Given the description of an element on the screen output the (x, y) to click on. 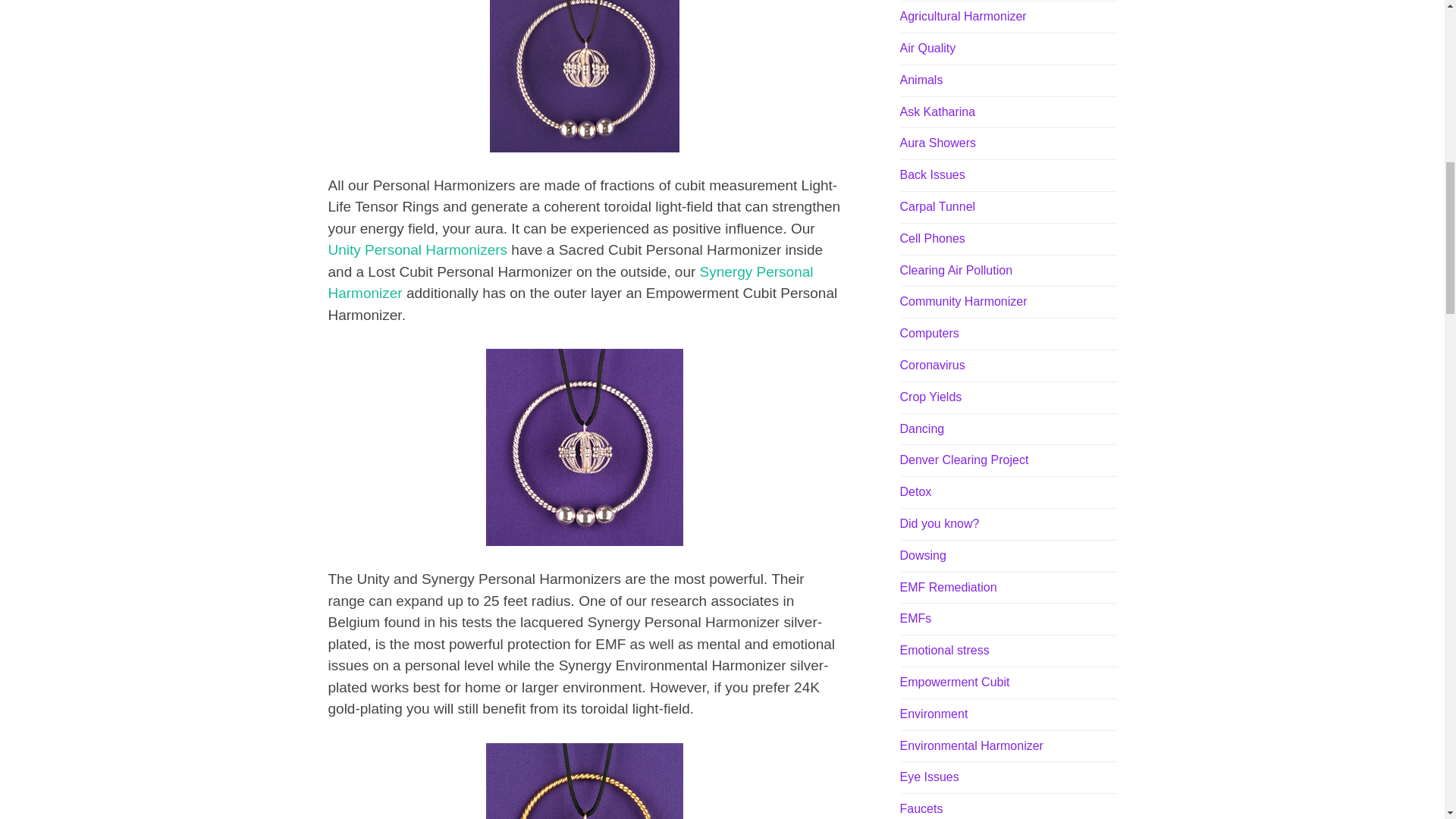
Cell Phones (931, 237)
Clearing Air Pollution (955, 269)
Agricultural Harmonizer (962, 15)
Back Issues (931, 174)
Synergy Personal Harmonizer (569, 282)
Carpal Tunnel (937, 205)
Ask Katharina (937, 111)
Unity Personal Harmonizers (416, 249)
Aura Showers (937, 142)
Animals (920, 79)
Air Quality (927, 47)
